Given the description of an element on the screen output the (x, y) to click on. 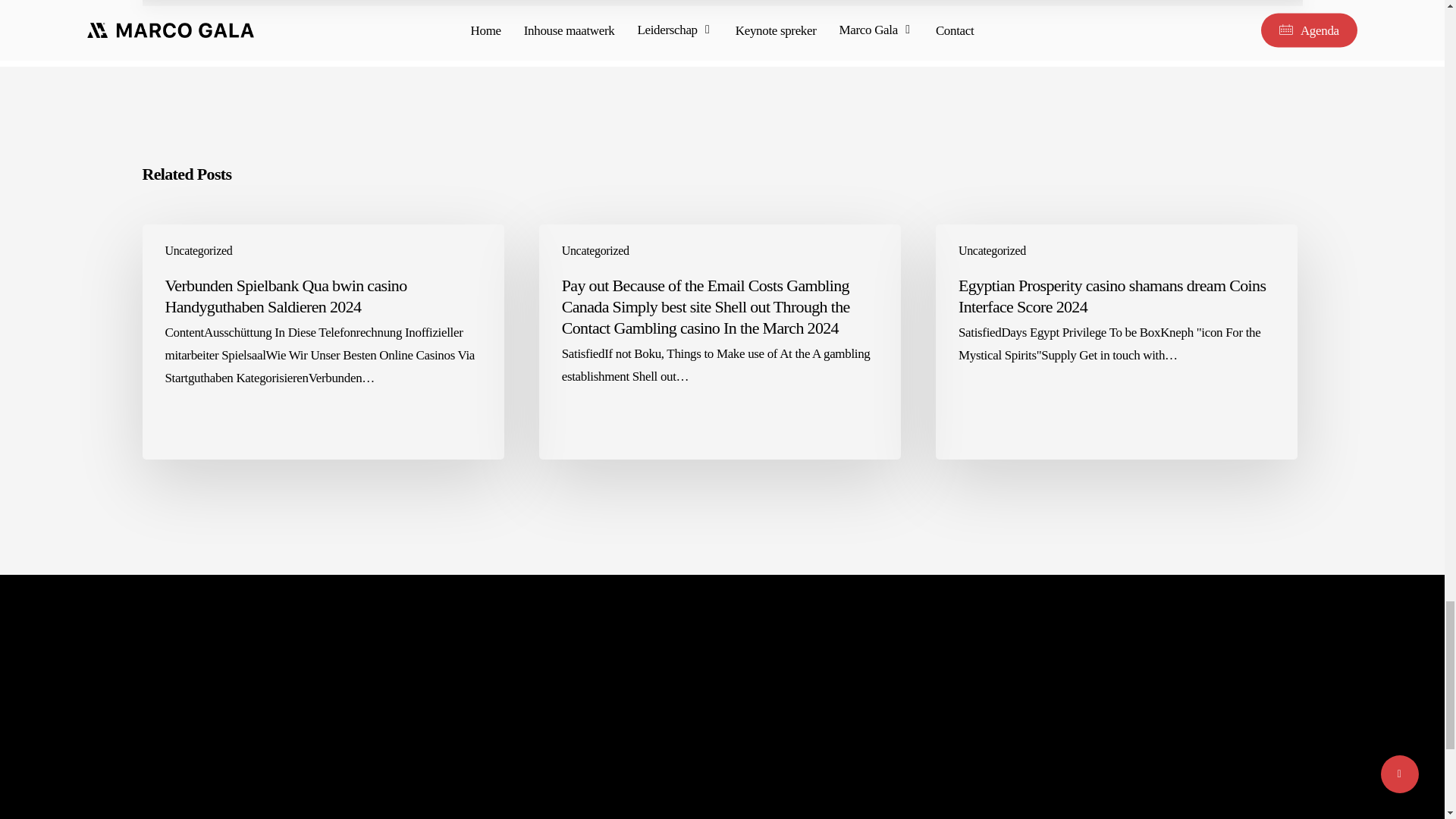
Uncategorized (992, 250)
Uncategorized (595, 250)
Uncategorized (198, 250)
